Given the description of an element on the screen output the (x, y) to click on. 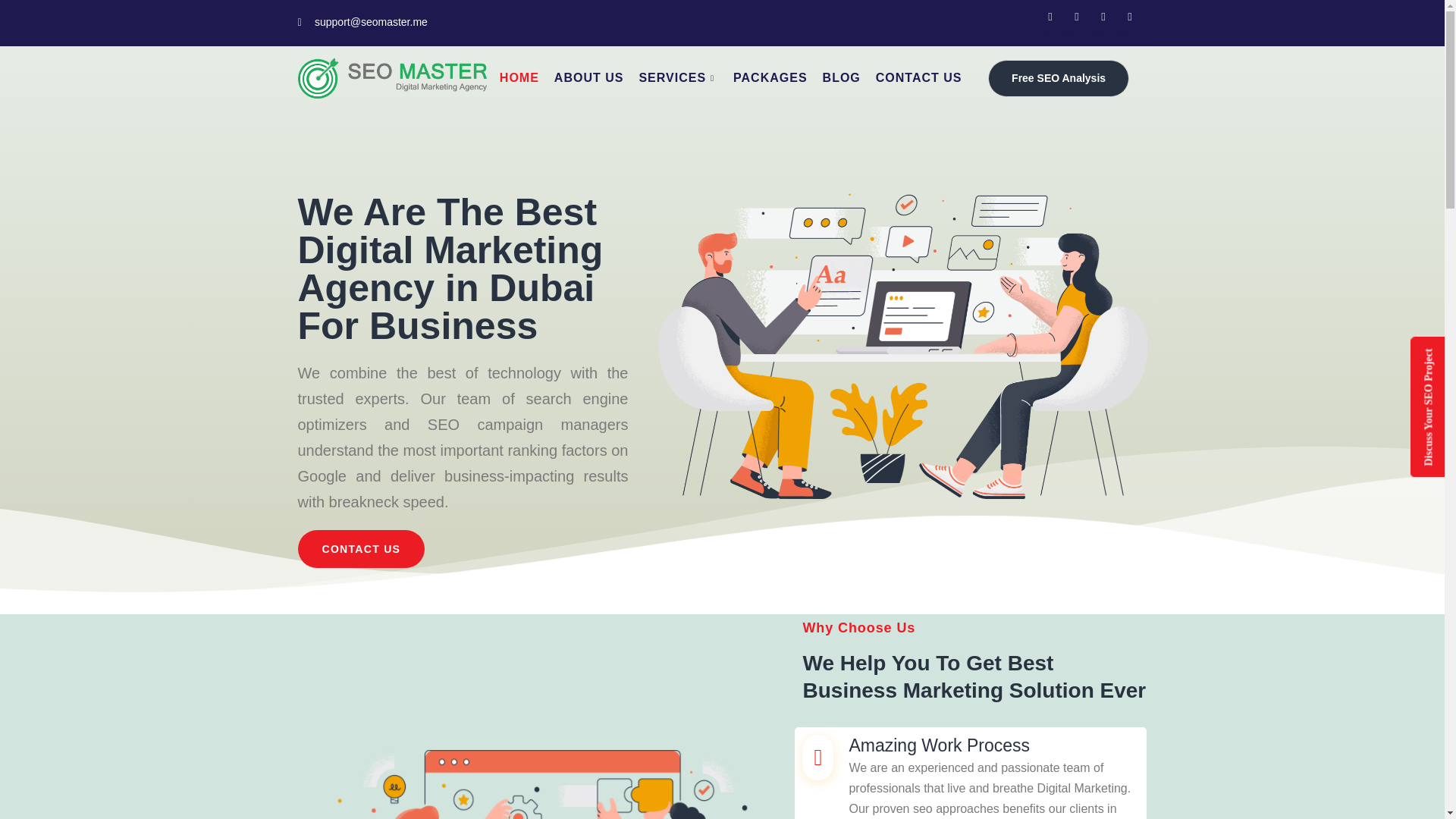
ABOUT US (589, 77)
SERVICES (677, 77)
